Given the description of an element on the screen output the (x, y) to click on. 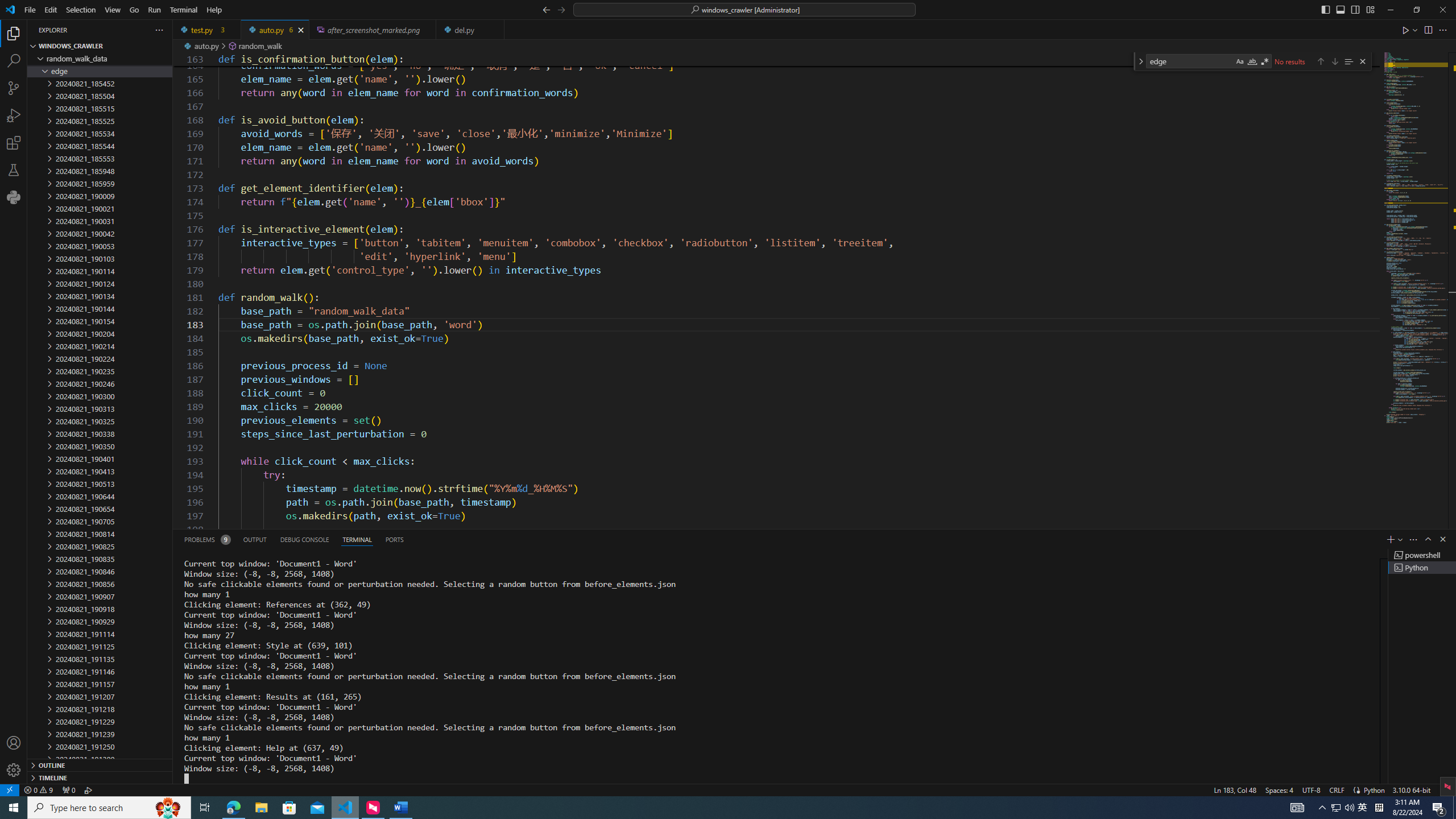
Explorer Section: windows_crawler (99, 46)
after_screenshot_marked.png, preview (372, 29)
Tab actions (495, 29)
Search (Ctrl+Shift+F) (13, 60)
More Actions... (1442, 29)
Outline Section (99, 764)
Source Control (Ctrl+Shift+G) (13, 87)
Notifications (1443, 789)
Split Editor Right (Ctrl+\) [Alt] Split Editor Down (1428, 29)
Close (Ctrl+F4) (496, 29)
test.py (207, 29)
Toggle Replace (1140, 61)
Explorer (Ctrl+Shift+E) (13, 33)
Run (153, 9)
